Given the description of an element on the screen output the (x, y) to click on. 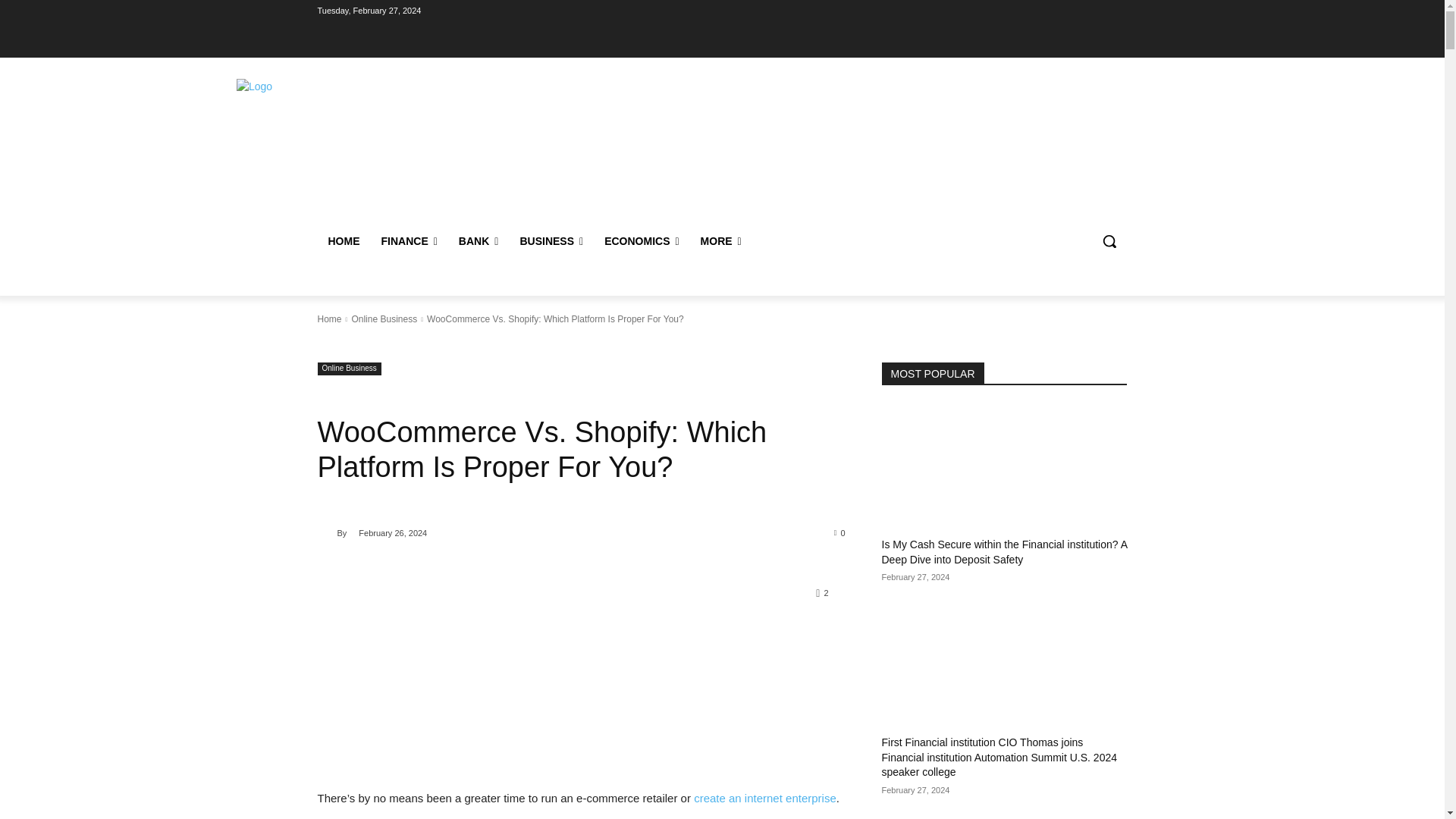
HOME (343, 240)
FINANCE (407, 240)
View all posts in Online Business (383, 318)
BANK (478, 240)
